Given the description of an element on the screen output the (x, y) to click on. 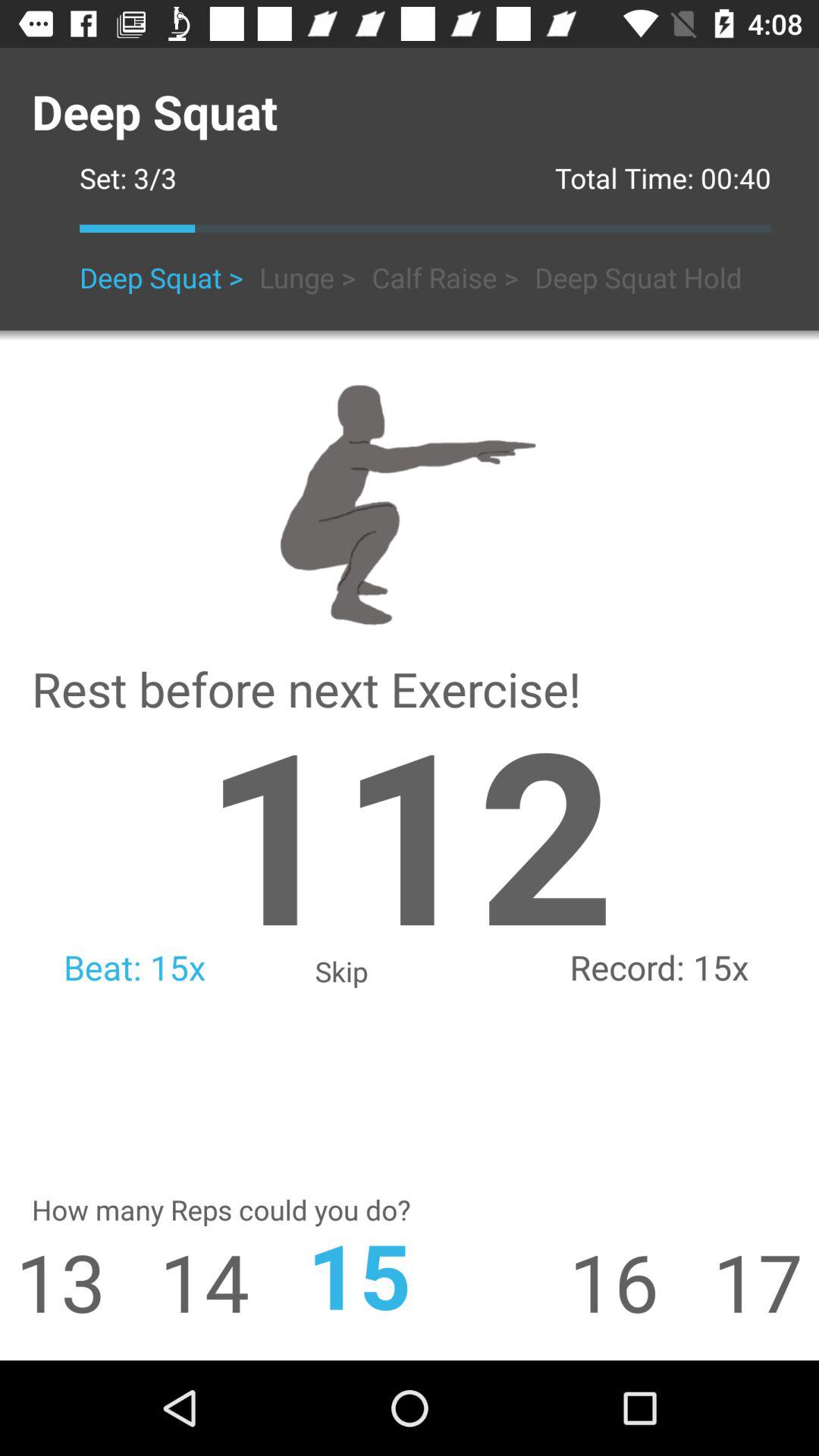
press the app next to 15 item (641, 1281)
